Given the description of an element on the screen output the (x, y) to click on. 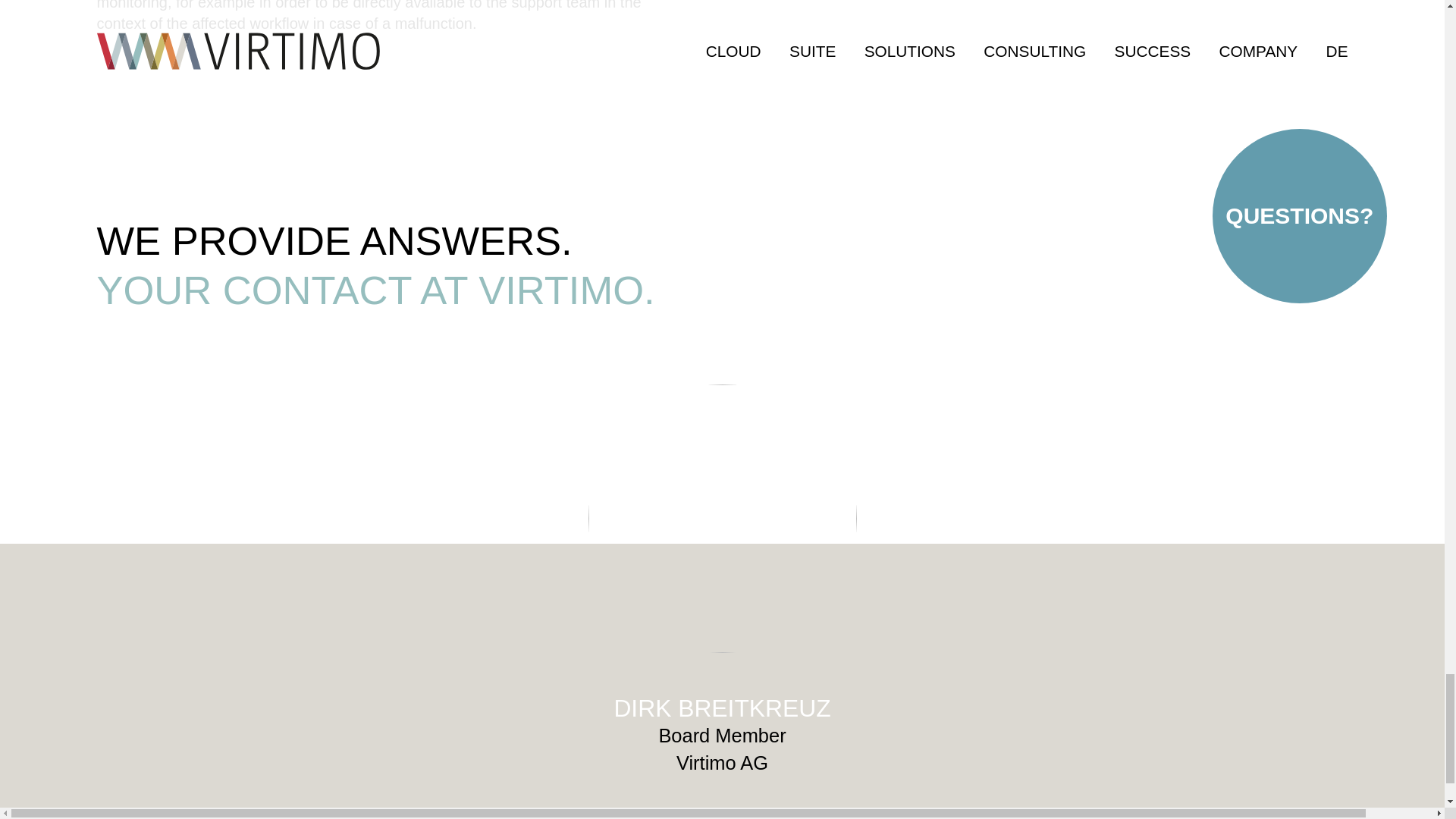
DIRK BREITKREUZ (720, 707)
